Given the description of an element on the screen output the (x, y) to click on. 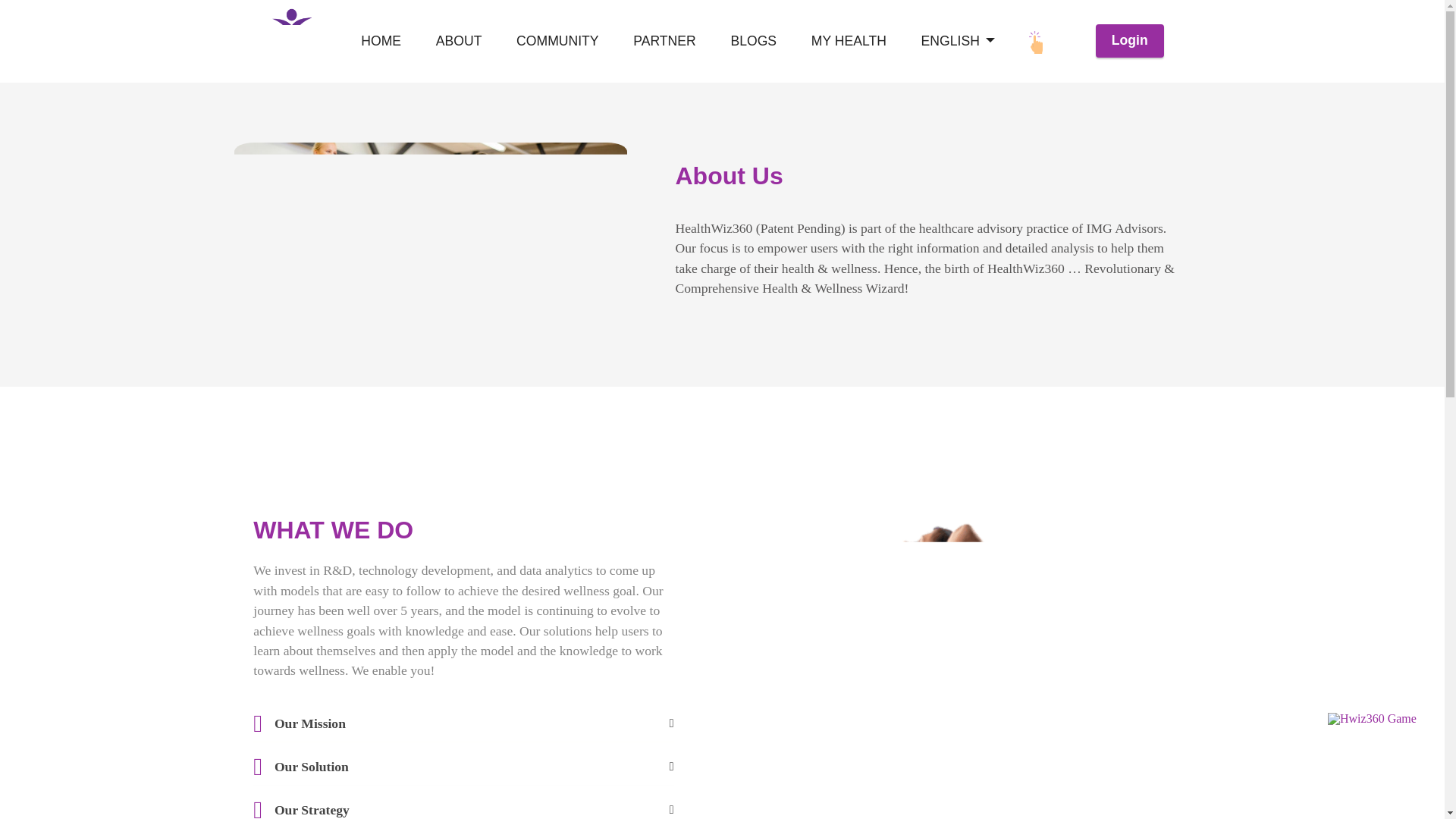
PARTNER (664, 40)
HOME (380, 40)
Our Mission (474, 722)
Our Strategy (474, 809)
BLOGS (753, 40)
COMMUNITY (557, 40)
Login (1129, 40)
Our Solution (474, 766)
MY HEALTH (849, 40)
ENGLISH (957, 40)
